Given the description of an element on the screen output the (x, y) to click on. 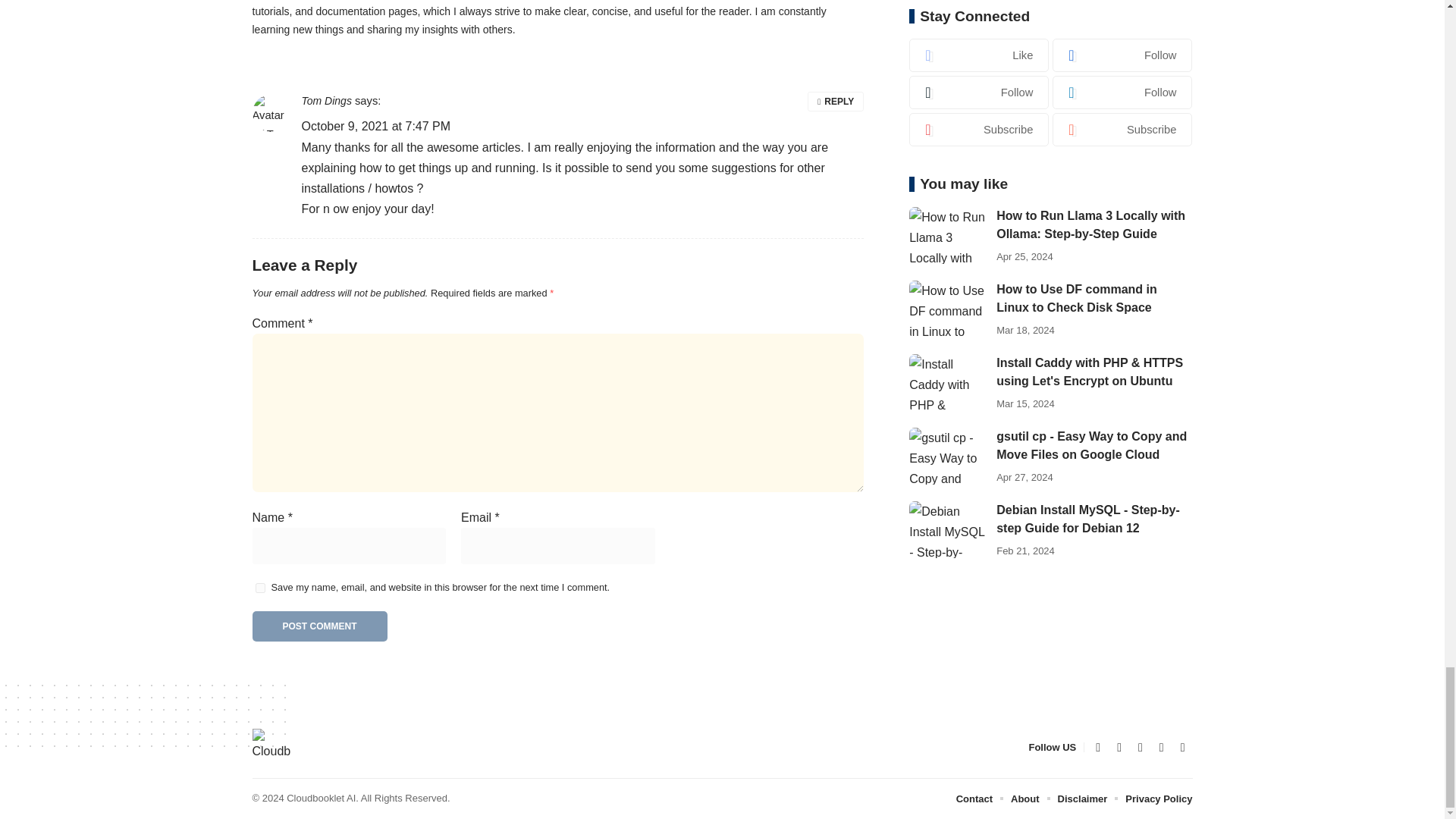
yes (259, 587)
Cloudbooklet AI (270, 747)
Post Comment (319, 625)
